Given the description of an element on the screen output the (x, y) to click on. 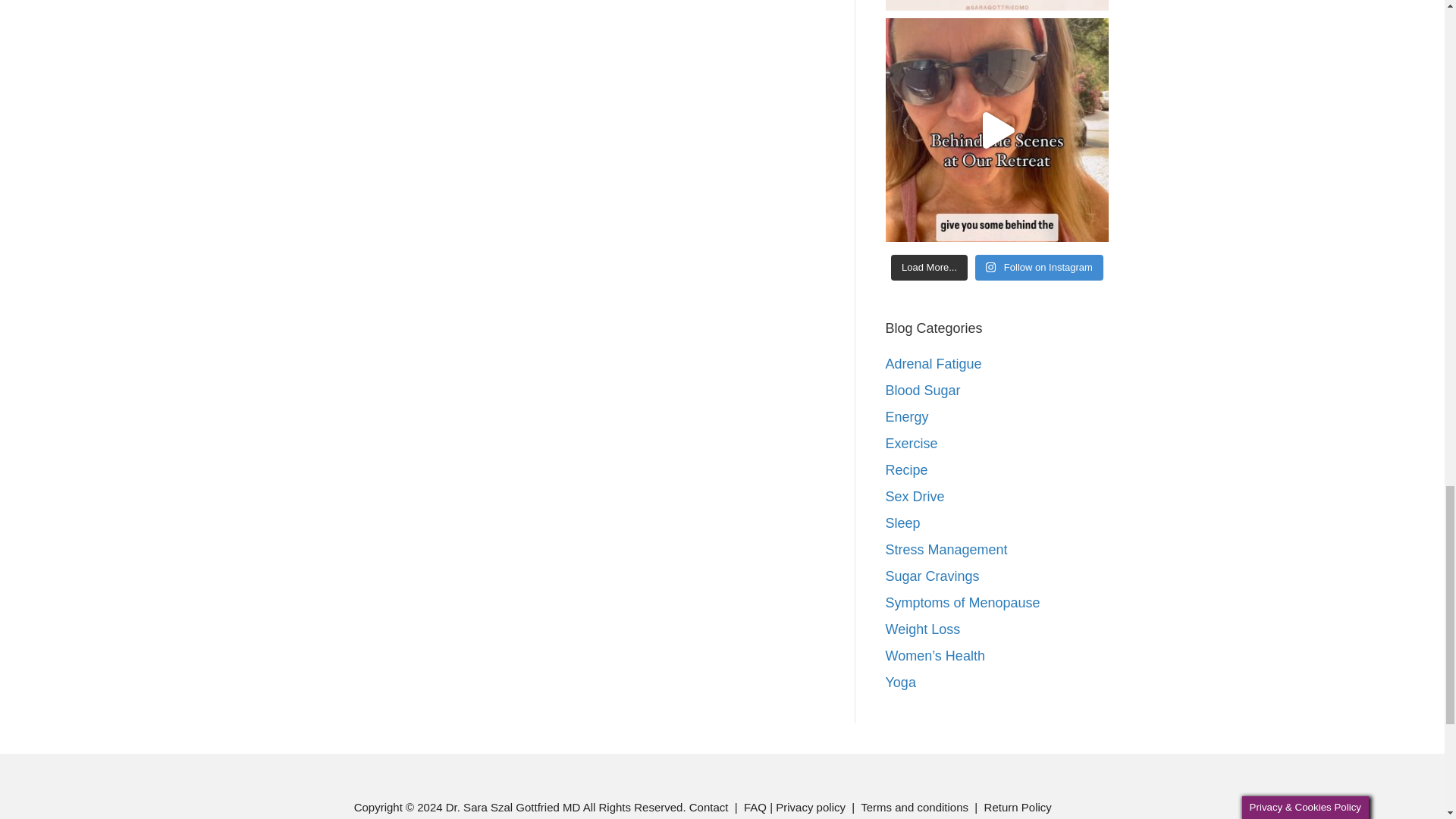
Follow on Instagram (1039, 267)
Weight Loss (922, 629)
Energy (906, 417)
Symptoms of Menopause (963, 602)
Sugar Cravings (932, 575)
Stress Management (946, 549)
Blood Sugar (922, 390)
Recipe (906, 469)
Sex Drive (914, 496)
Adrenal Fatigue (933, 363)
Exercise (911, 443)
Load More... (929, 267)
Sleep (902, 522)
